Given the description of an element on the screen output the (x, y) to click on. 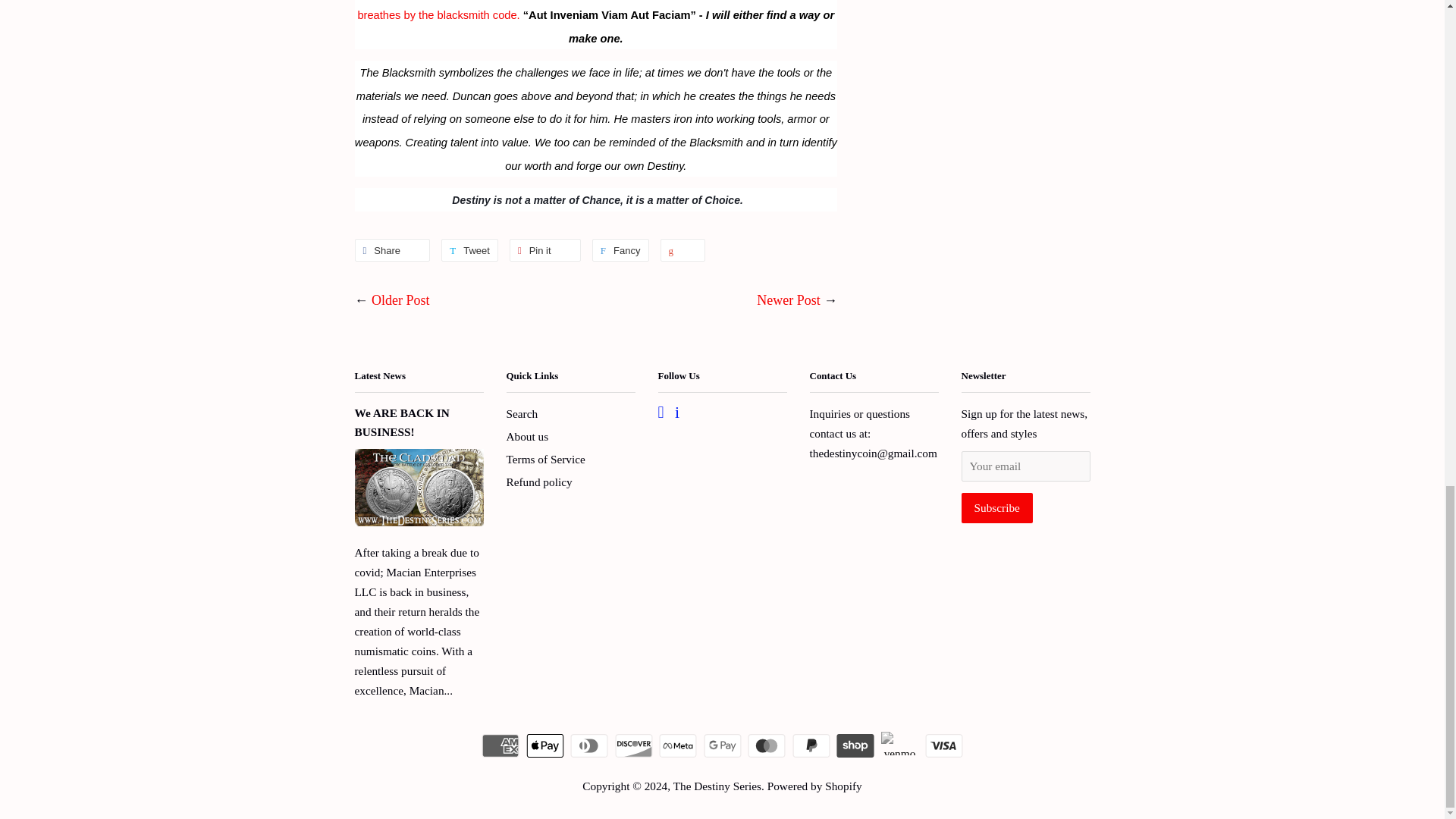
Pin on Pinterest (544, 250)
Add to Fancy (620, 250)
Tweet on Twitter (469, 250)
Share on Facebook (392, 250)
Subscribe (996, 508)
